Given the description of an element on the screen output the (x, y) to click on. 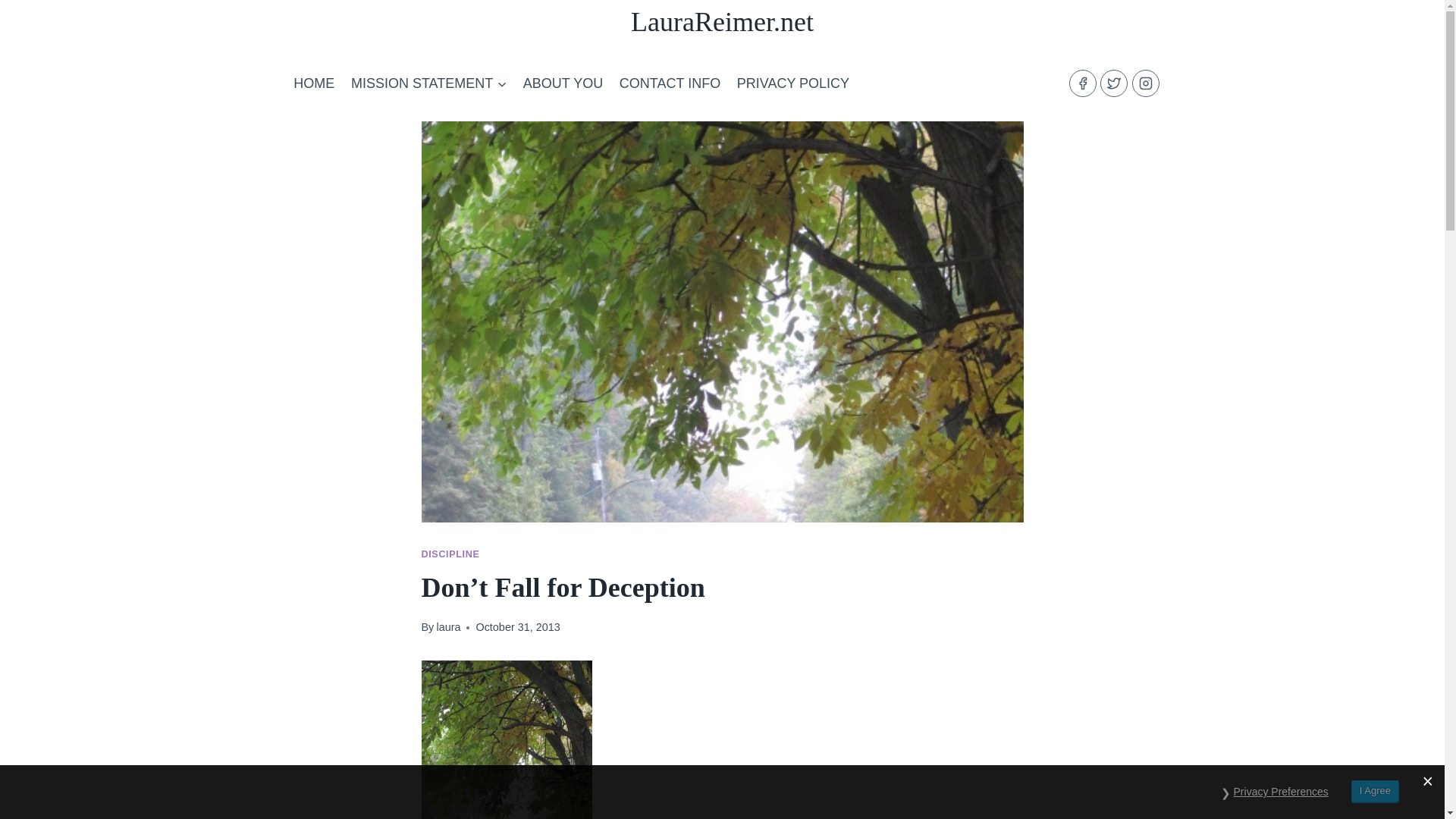
I Agree (1375, 791)
CONTACT INFO (670, 83)
LauraReimer.net (721, 21)
ABOUT YOU (563, 83)
DISCIPLINE (451, 553)
Privacy Preferences (1280, 791)
PRIVACY POLICY (793, 83)
HOME (313, 83)
MISSION STATEMENT (428, 83)
laura (447, 626)
